Given the description of an element on the screen output the (x, y) to click on. 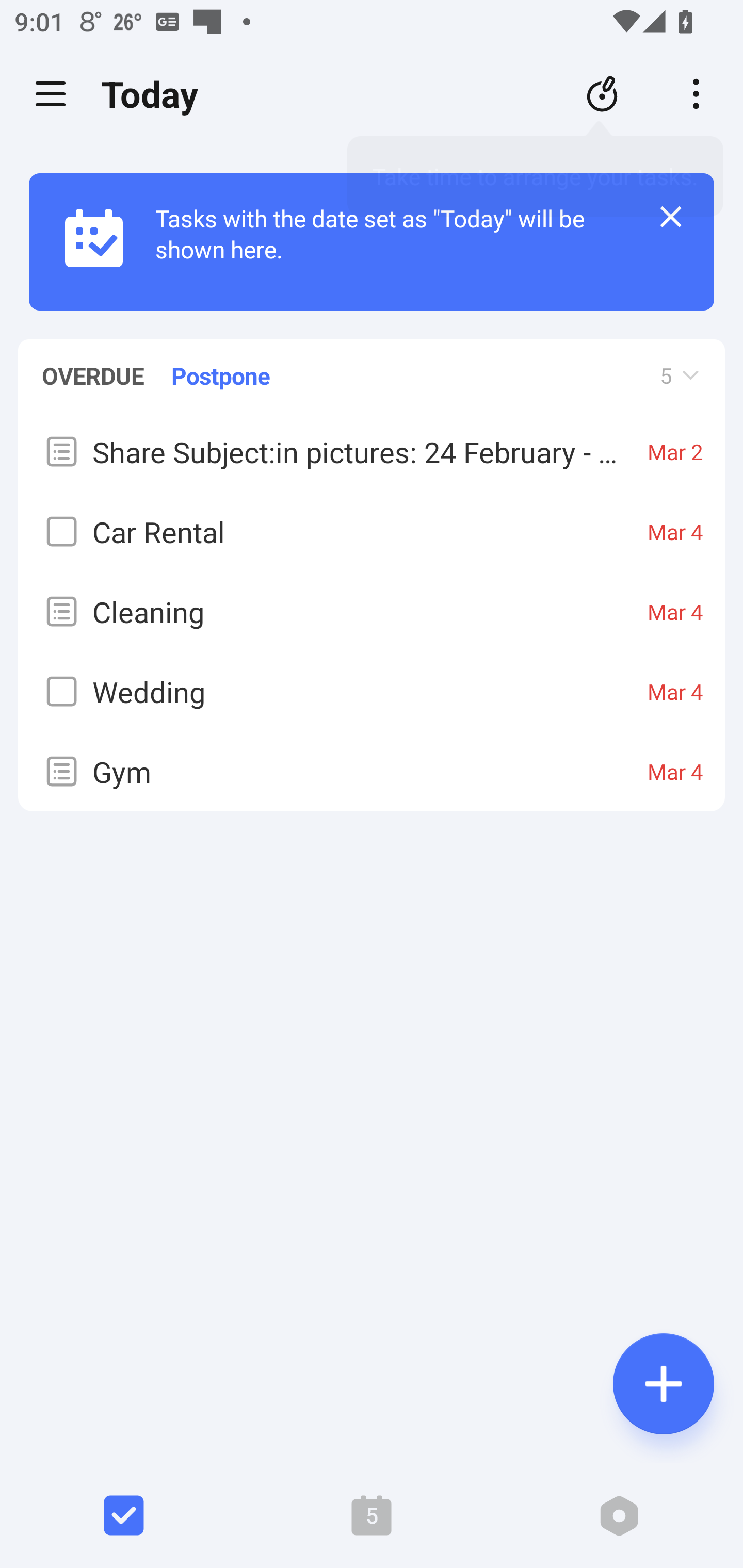
Today (154, 93)
OVERDUE Postpone 5 (371, 365)
Postpone (220, 375)
Mar 2 (675, 451)
Car Rental Mar 4 (371, 530)
Mar 4 (675, 531)
Cleaning Mar 4 (371, 610)
Mar 4 (675, 611)
Wedding Mar 4 (371, 690)
Mar 4 (675, 691)
Gym Mar 4 (371, 770)
Mar 4 (675, 771)
